Given the description of an element on the screen output the (x, y) to click on. 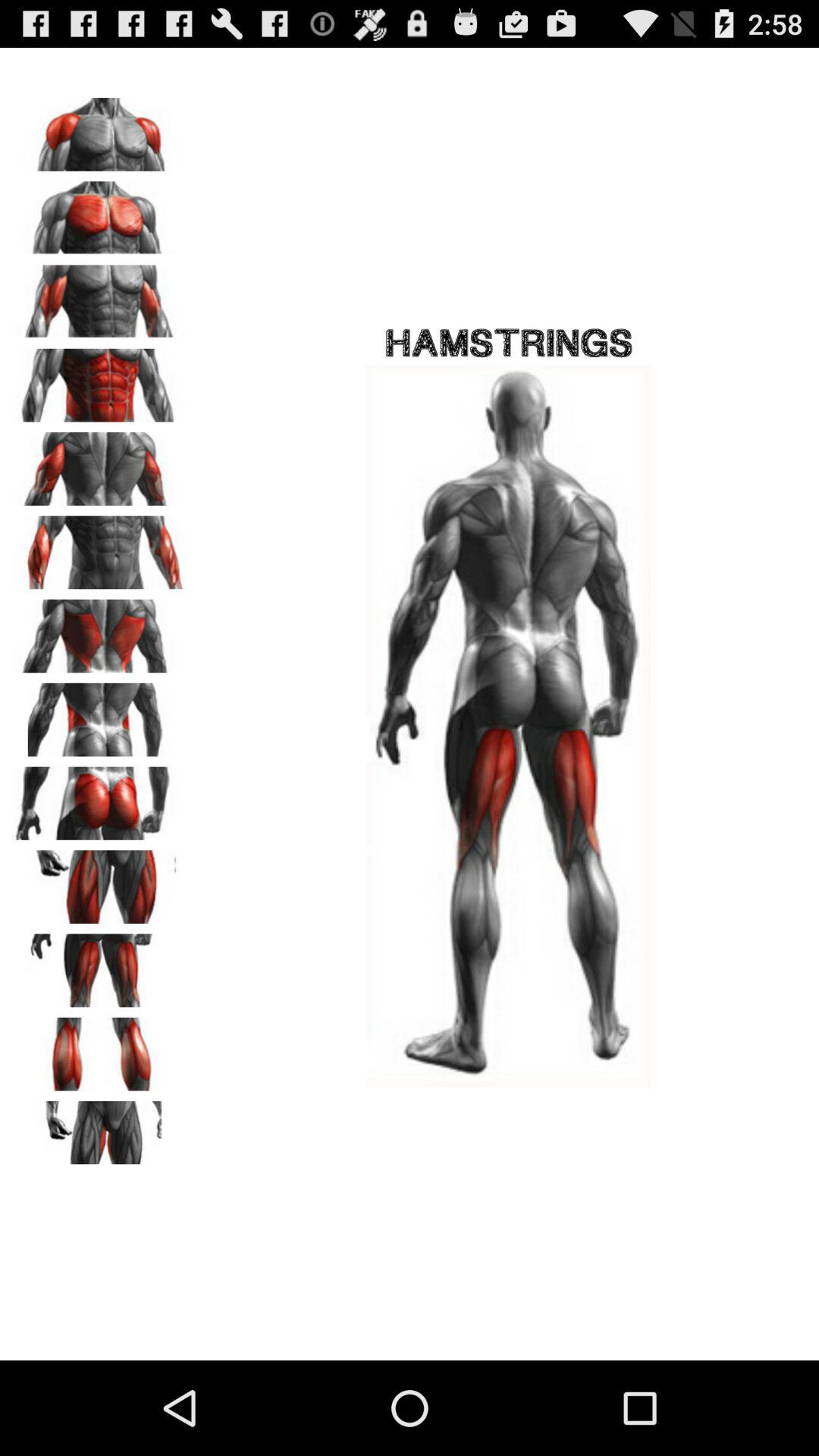
choose back muscles option (99, 630)
